Given the description of an element on the screen output the (x, y) to click on. 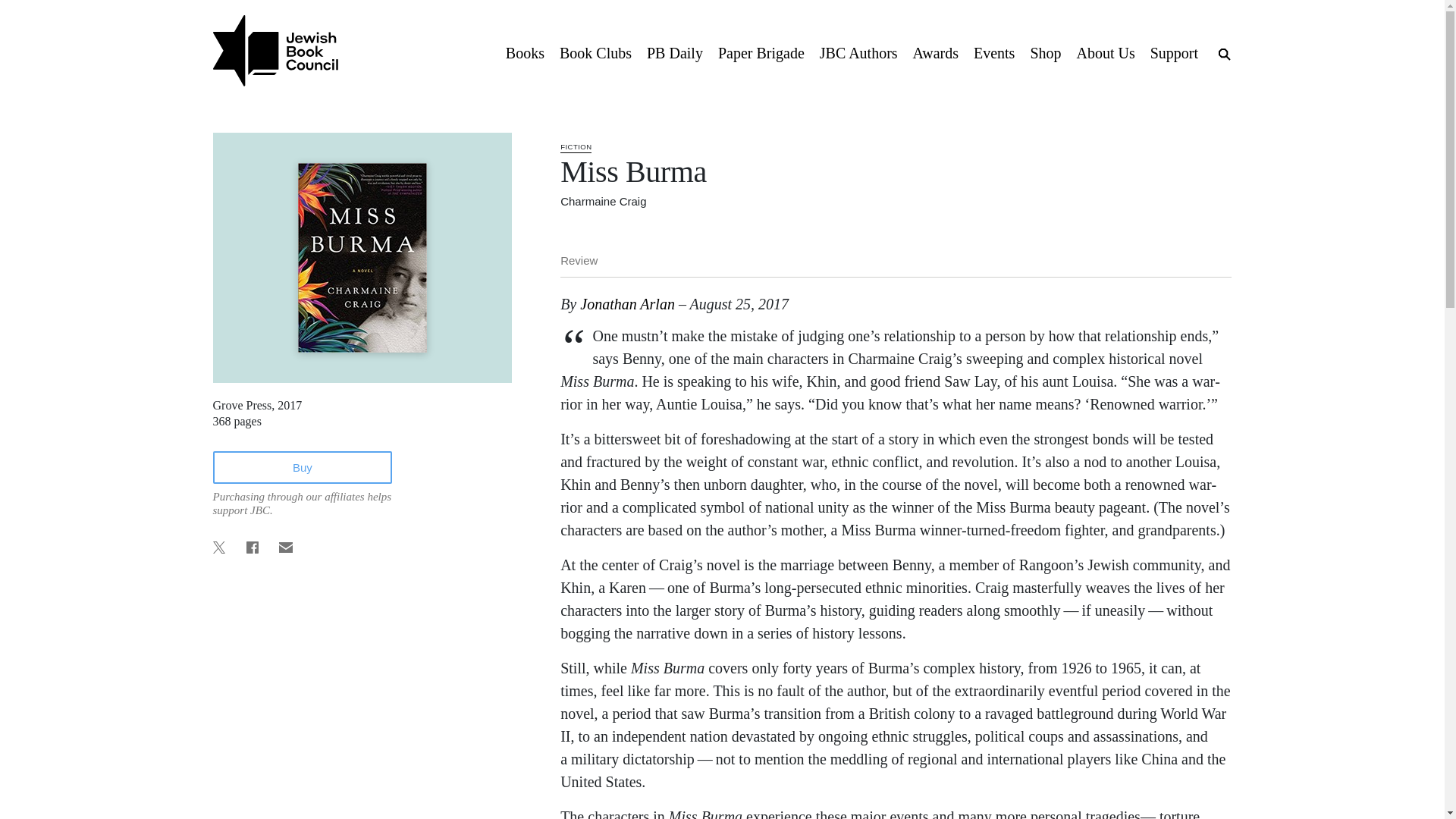
Paper Brigade (761, 52)
Awards (935, 52)
JBC Authors (858, 52)
Book Clubs (595, 52)
PB Daily (674, 52)
Books (524, 52)
